Given the description of an element on the screen output the (x, y) to click on. 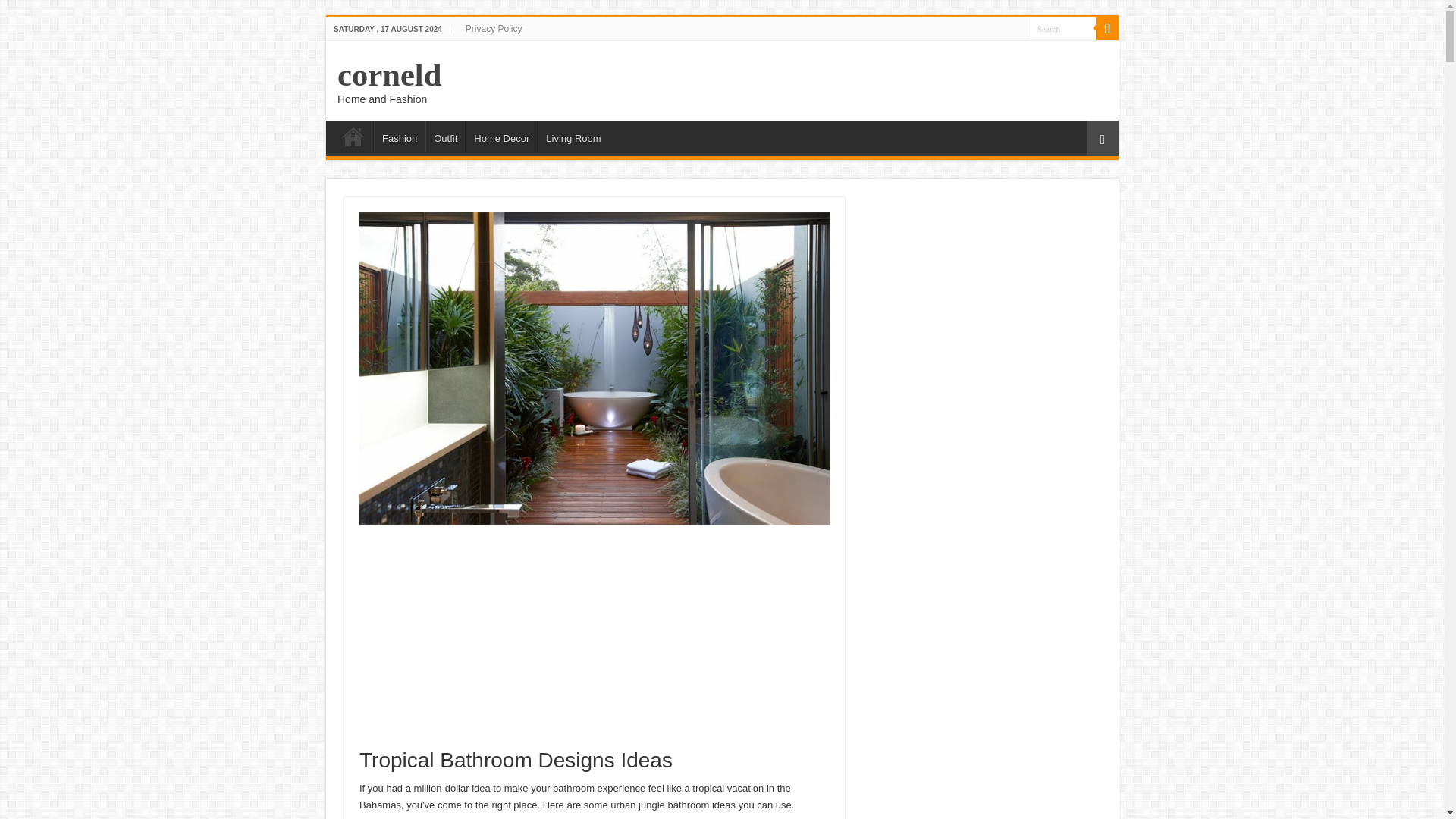
Home (352, 136)
Search (1061, 28)
Advertisement (594, 642)
corneld (389, 74)
Search (1061, 28)
Search (1107, 28)
Search (1061, 28)
Privacy Policy (493, 28)
Advertisement (982, 291)
Fashion (399, 136)
